Given the description of an element on the screen output the (x, y) to click on. 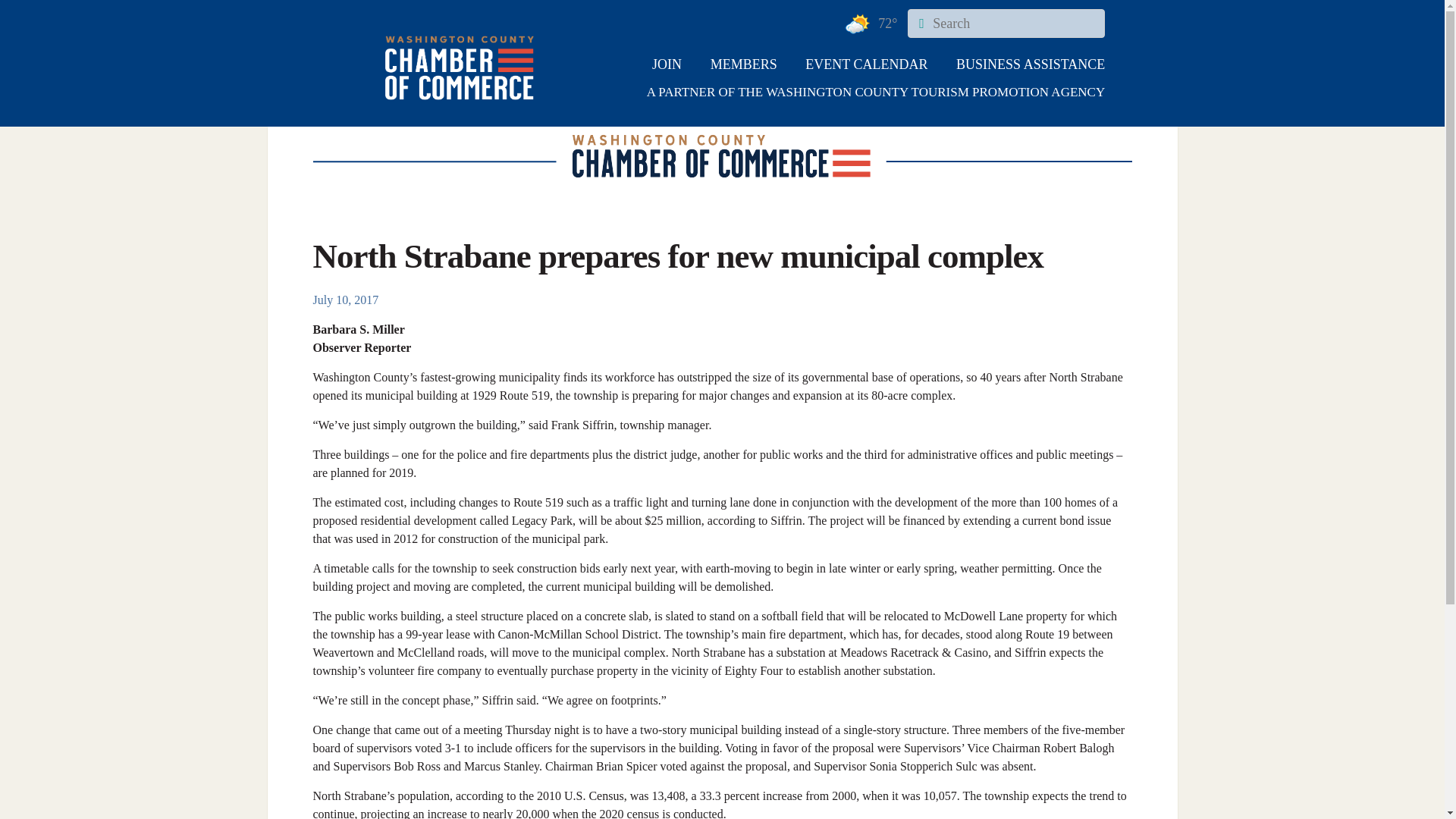
BUSINESS ASSISTANCE (1030, 64)
JOIN (666, 64)
A PARTNER OF THE WASHINGTON COUNTY TOURISM PROMOTION AGENCY (853, 92)
MEMBERS (743, 64)
EVENT CALENDAR (866, 64)
